Given the description of an element on the screen output the (x, y) to click on. 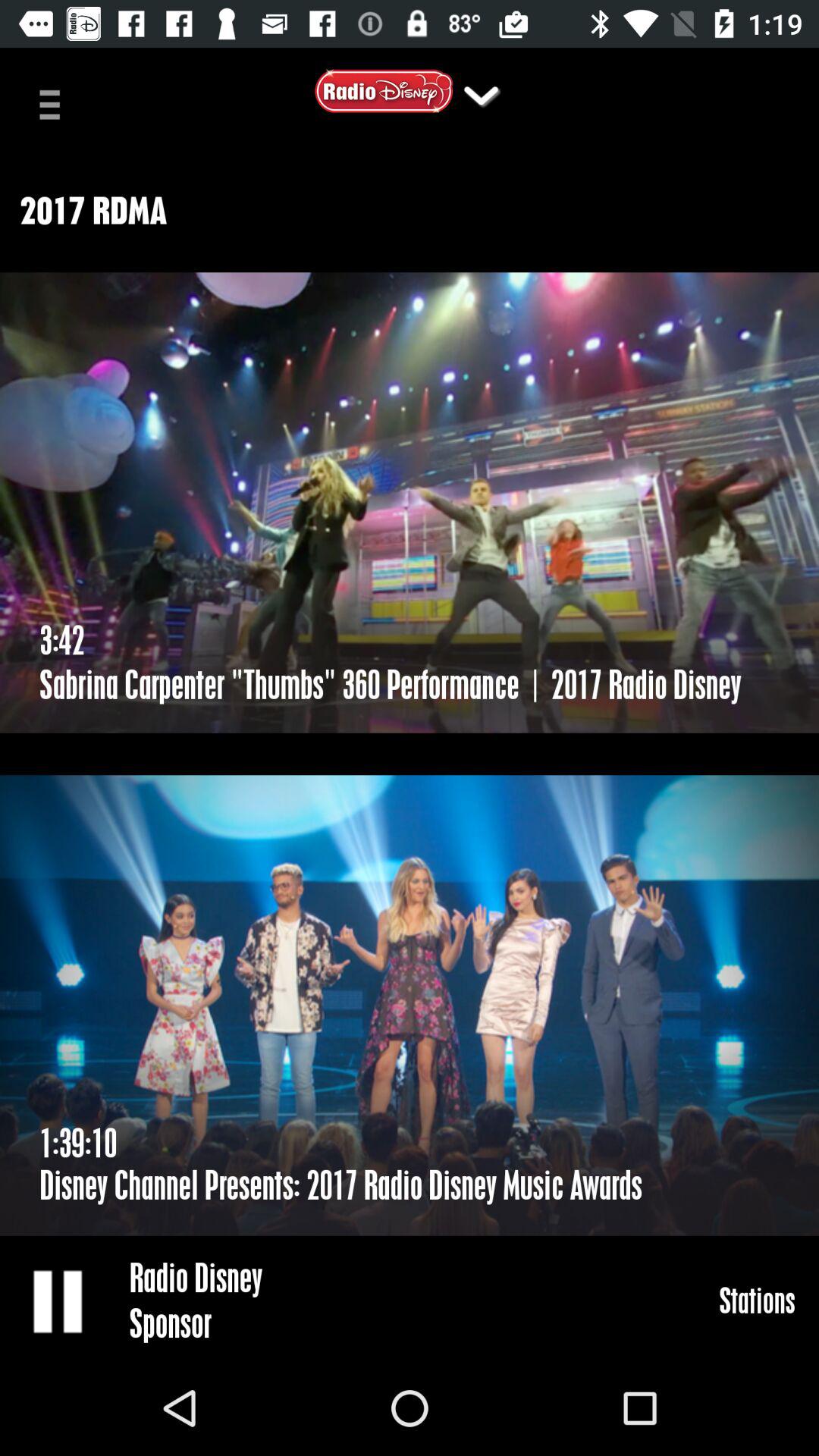
select the stations (757, 1300)
